Given the description of an element on the screen output the (x, y) to click on. 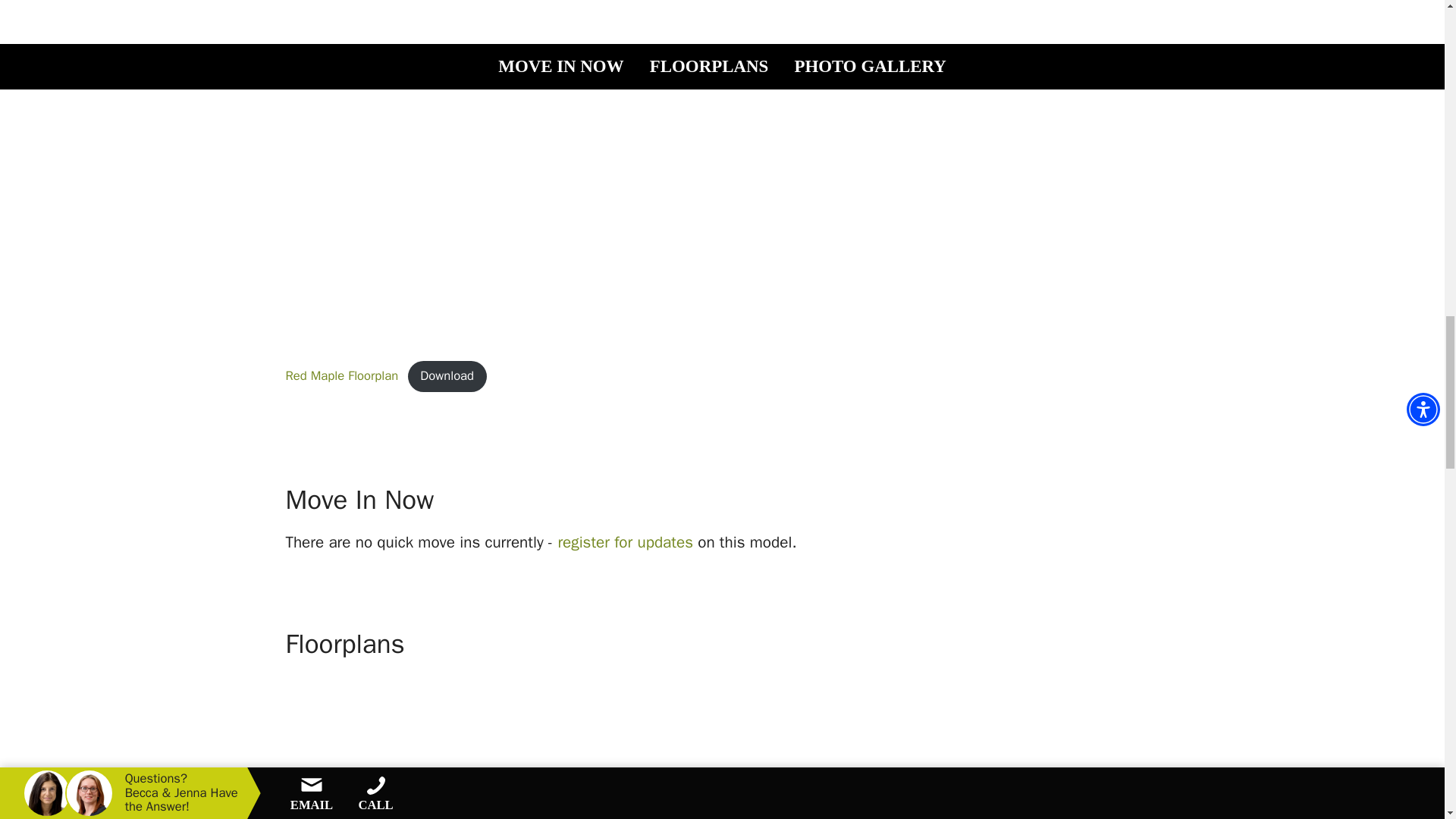
Download (446, 377)
Red Maple Floorplan (341, 375)
register for updates (625, 542)
